Given the description of an element on the screen output the (x, y) to click on. 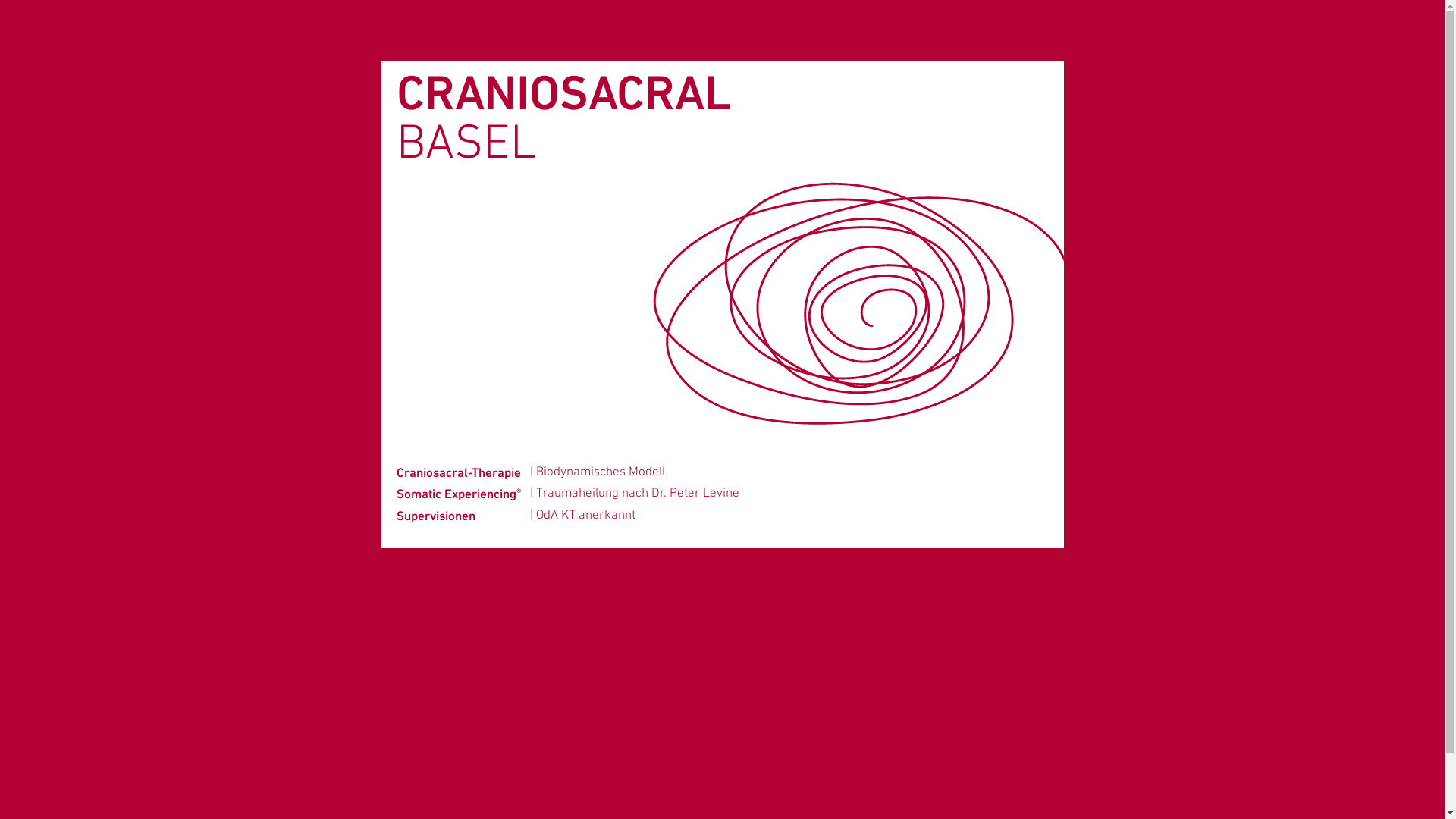
Supervisionen Element type: text (434, 515)
| OdA KT anerkannt Element type: text (581, 515)
Craniosacral-Therapie Element type: text (457, 472)
Biodynamisches Modell Element type: text (599, 472)
Traumaheilung nach Dr. Peter Levine Element type: text (636, 493)
CRANIOSACRAL
BASEL Element type: text (562, 121)
